Given the description of an element on the screen output the (x, y) to click on. 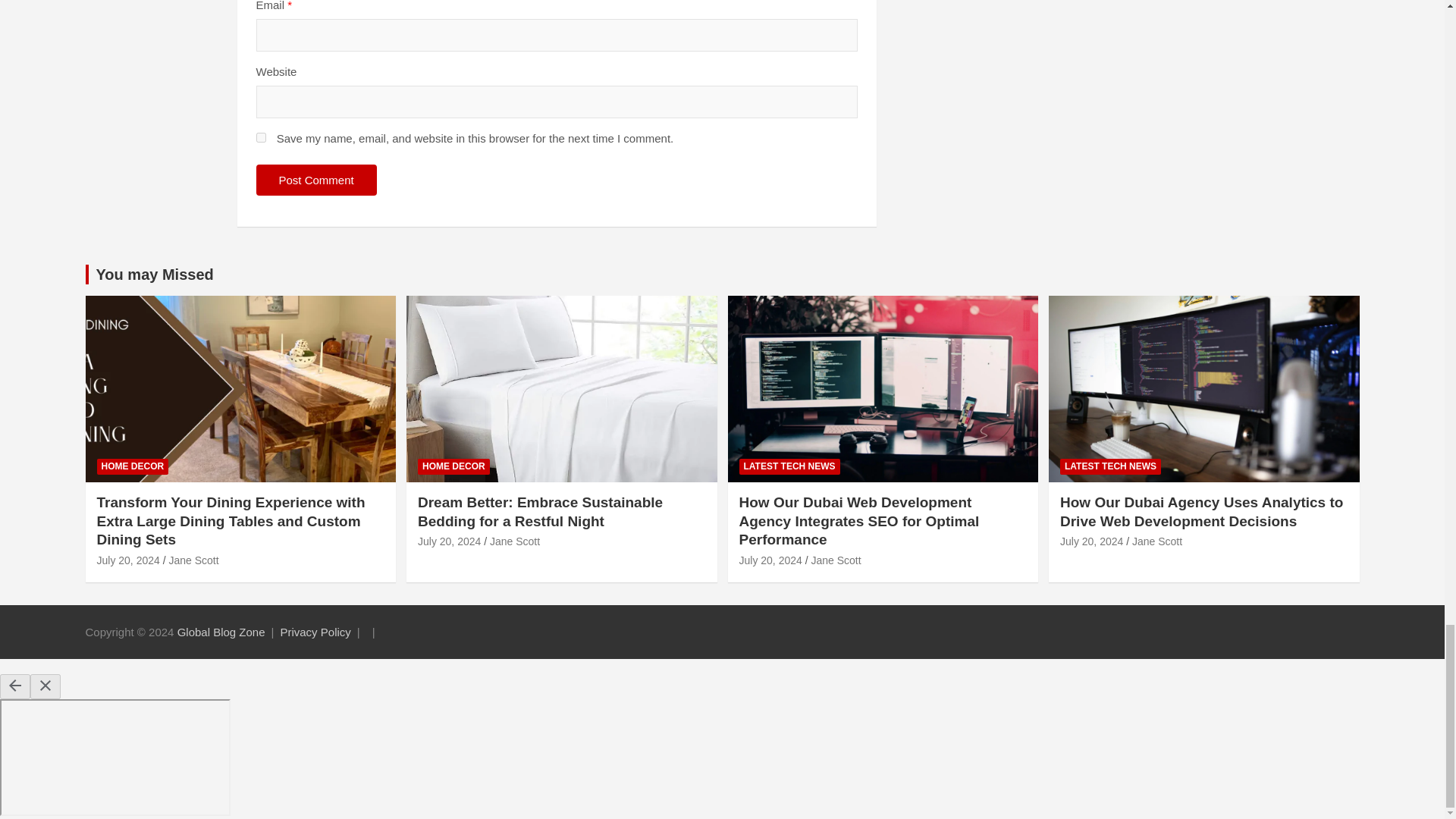
yes (261, 137)
Post Comment (316, 179)
Global Blog Zone (220, 631)
